Given the description of an element on the screen output the (x, y) to click on. 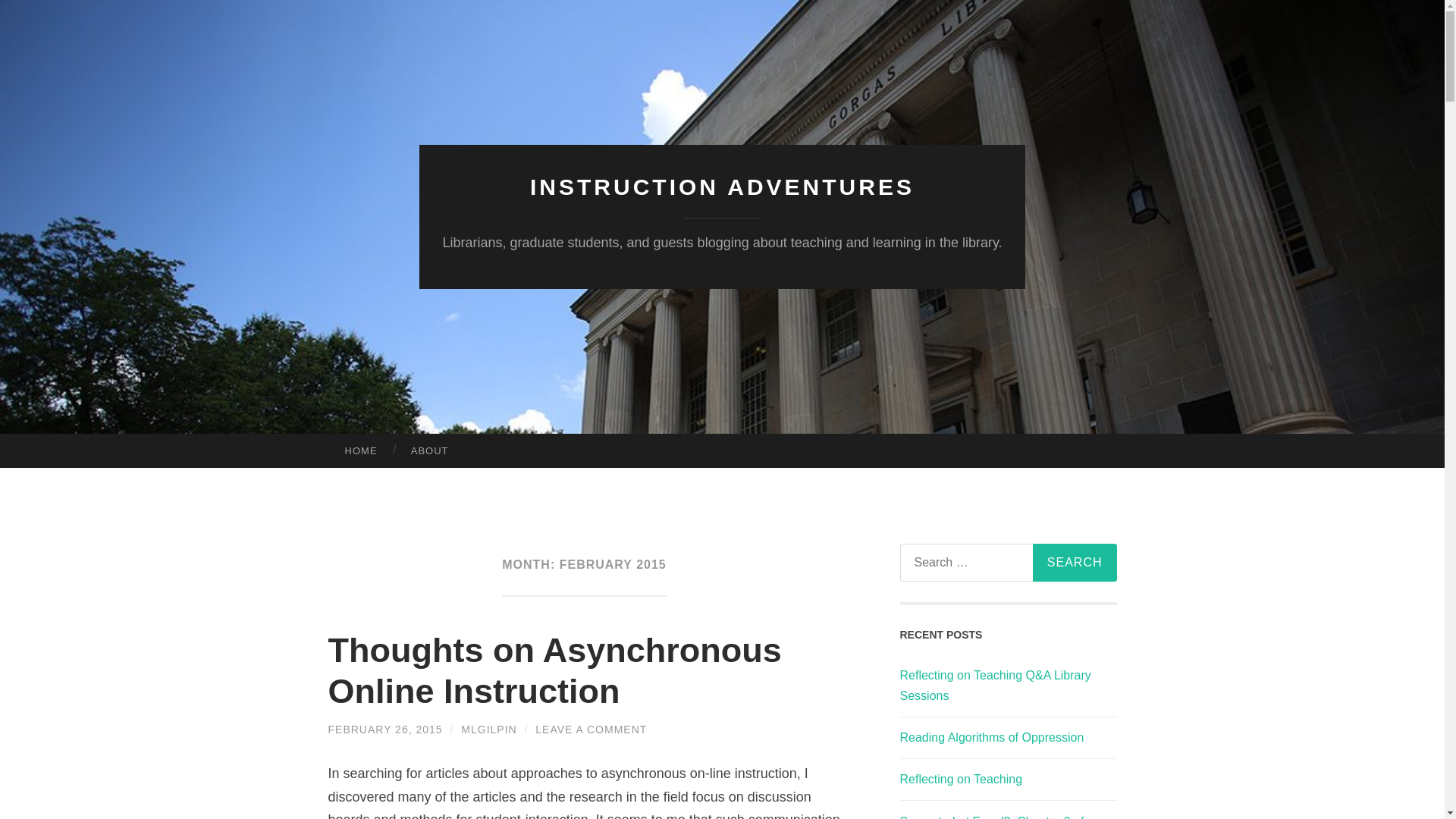
Thoughts on Asynchronous Online Instruction (553, 670)
Search (1074, 562)
INSTRUCTION ADVENTURES (721, 186)
Search (1074, 562)
ABOUT (429, 451)
Separate but Equal?: Chapter 2 of Academic Ableism (991, 816)
MLGILPIN (488, 729)
Reflecting on Teaching (960, 779)
Search (1074, 562)
HOME (360, 451)
LEAVE A COMMENT (590, 729)
Reading Algorithms of Oppression (991, 737)
SKIP TO CONTENT (16, 445)
